Given the description of an element on the screen output the (x, y) to click on. 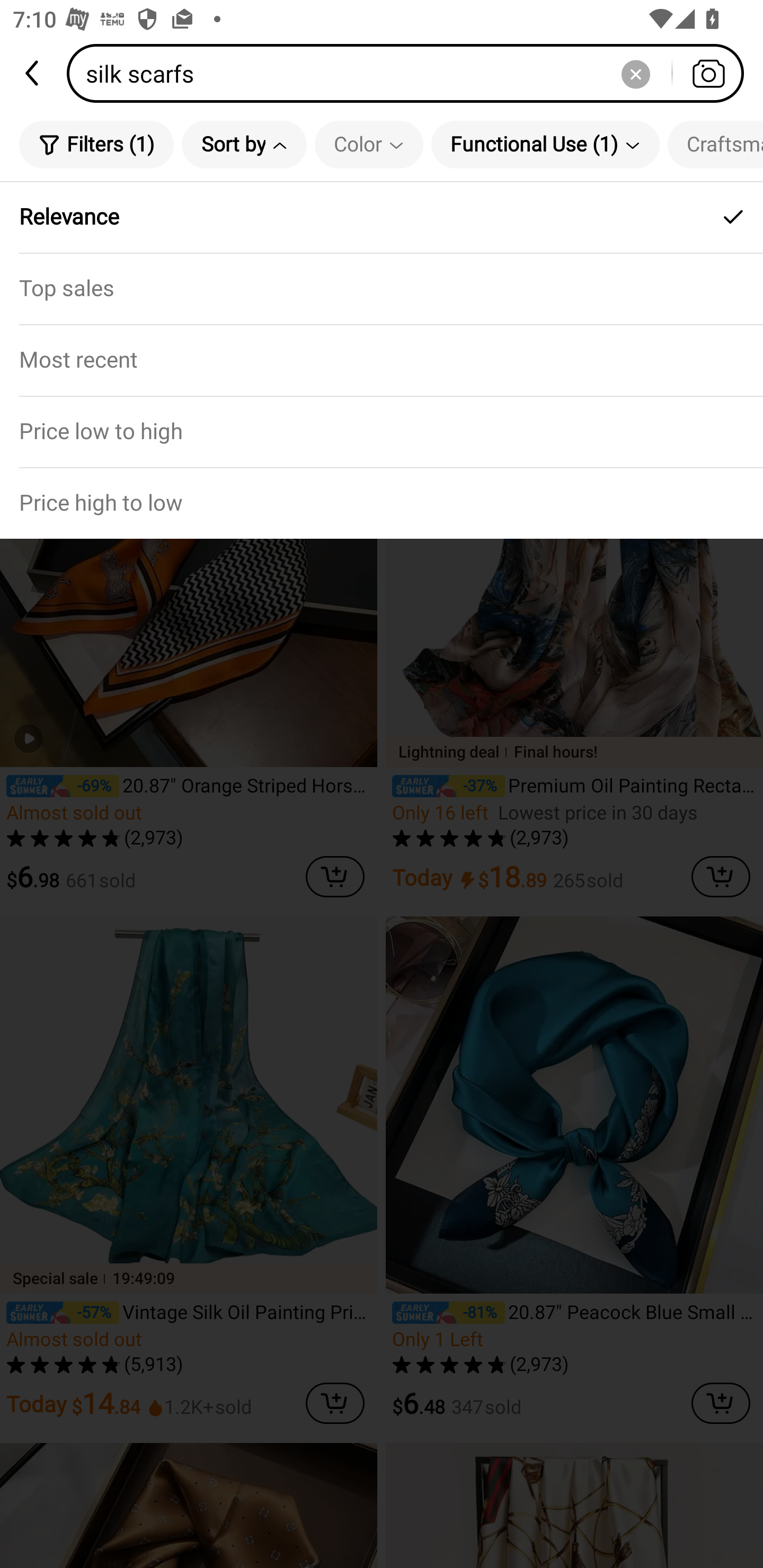
back (33, 72)
silk scarfs (411, 73)
Delete search history (635, 73)
Search by photo (708, 73)
Filters (1) (96, 143)
Sort by (243, 143)
Color (368, 143)
Functional Use (1) (545, 143)
Craftsmanship (715, 143)
Relevance (381, 216)
Top sales (381, 288)
Most recent (381, 359)
Price low to high (381, 431)
Price high to low (381, 503)
